Given the description of an element on the screen output the (x, y) to click on. 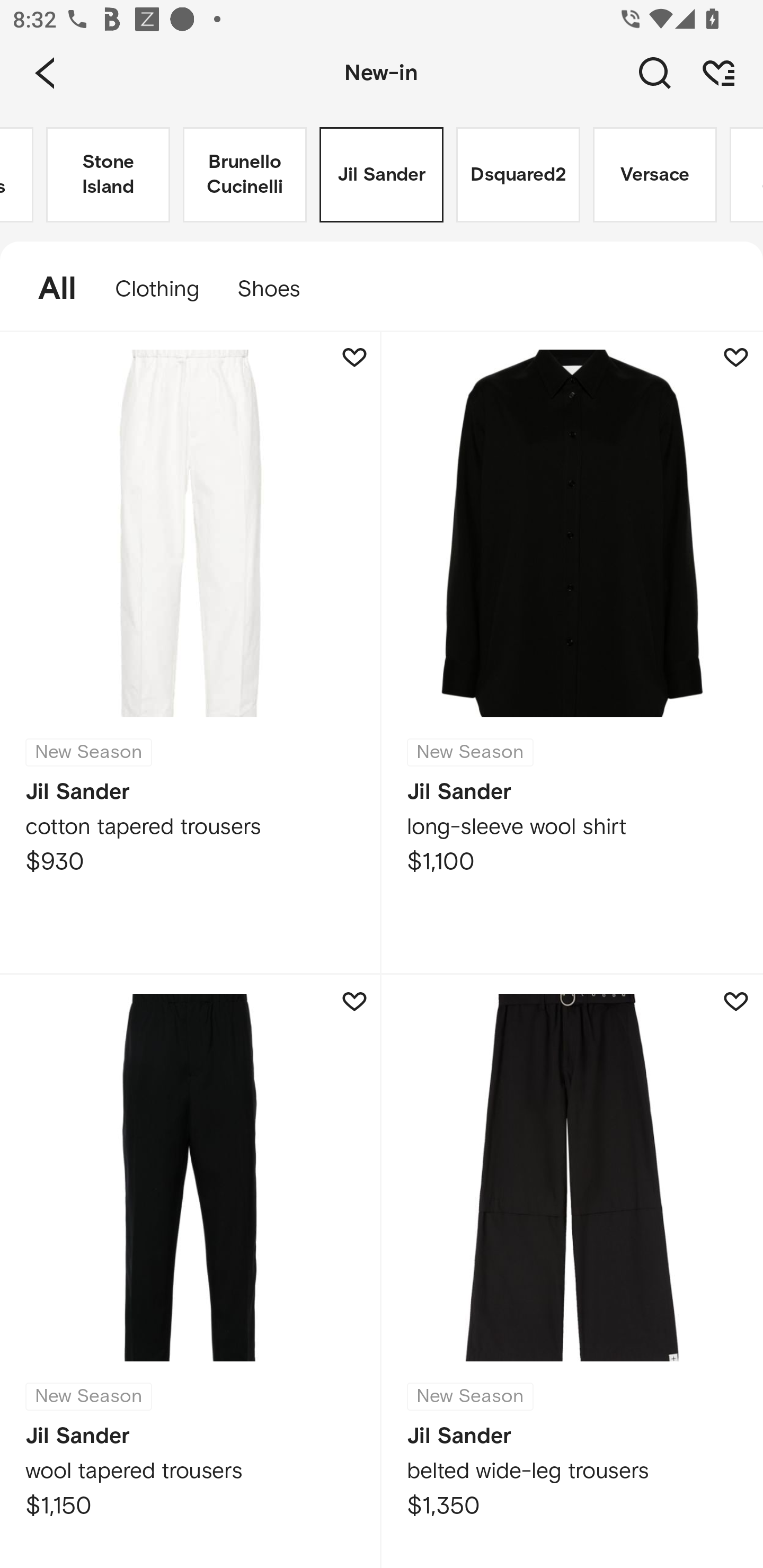
Stone Island (107, 174)
Brunello Cucinelli (244, 174)
Jil Sander (381, 174)
Dsquared2 (517, 174)
Versace (654, 174)
All (47, 288)
Clothing (156, 288)
Shoes (278, 288)
New Season Jil Sander cotton tapered trousers $930 (190, 652)
New Season Jil Sander wool tapered trousers $1,150 (190, 1271)
